Given the description of an element on the screen output the (x, y) to click on. 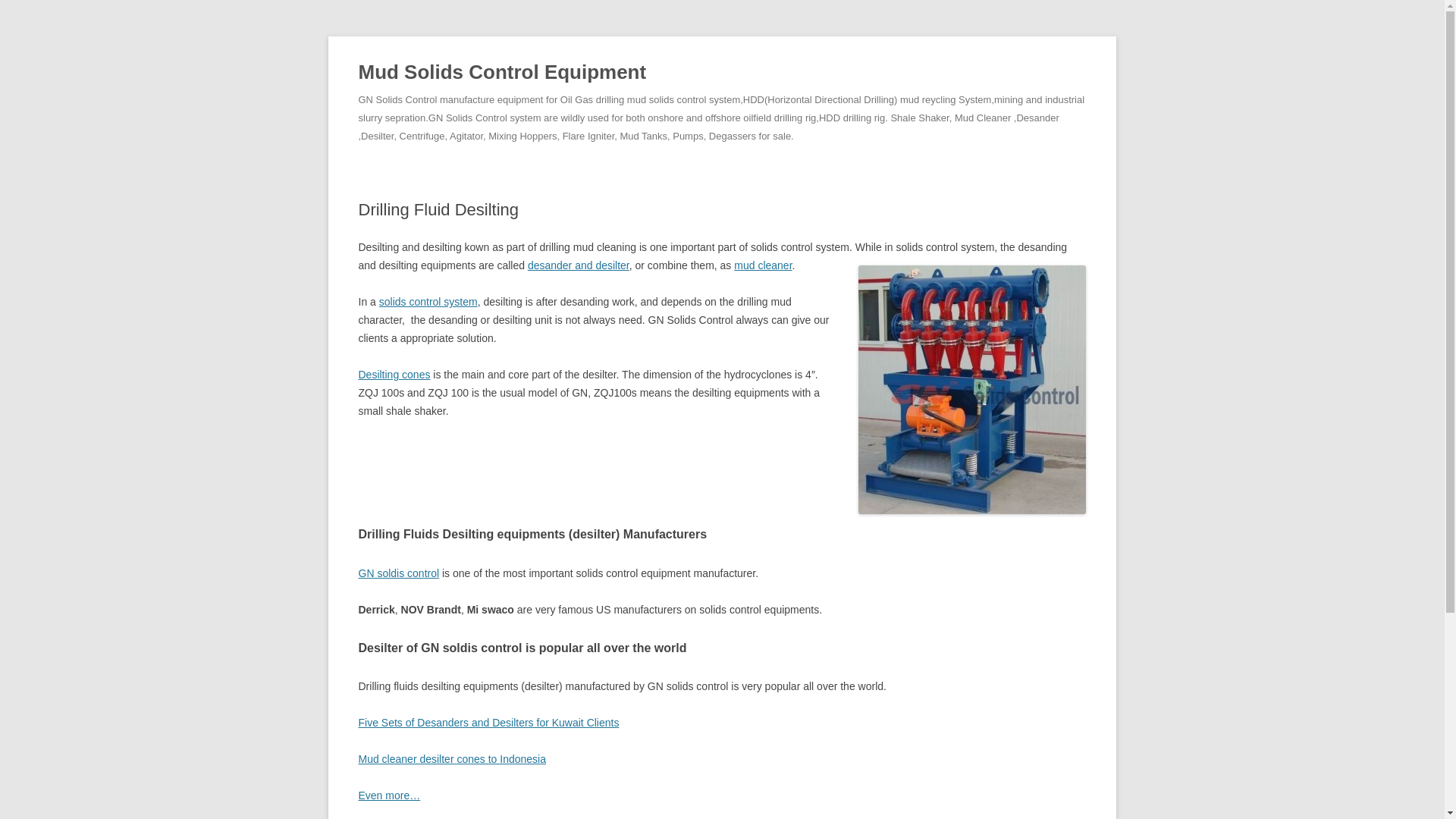
more about desilter (389, 795)
solids control system (427, 301)
Desilting cones (393, 374)
desander and desilter (577, 265)
drilling fluids cones (393, 374)
Five Sets of Desanders and Desilters for Kuwait Clients (488, 722)
mud cleaner (762, 265)
Mud cleaner desilter cones to Indonesia (451, 758)
GN solids control (398, 573)
solids control system (427, 301)
desander and desilter (577, 265)
Mud Solids Control Equipment (502, 72)
drilling mud desilting equipments (972, 389)
mud clearner (762, 265)
